Given the description of an element on the screen output the (x, y) to click on. 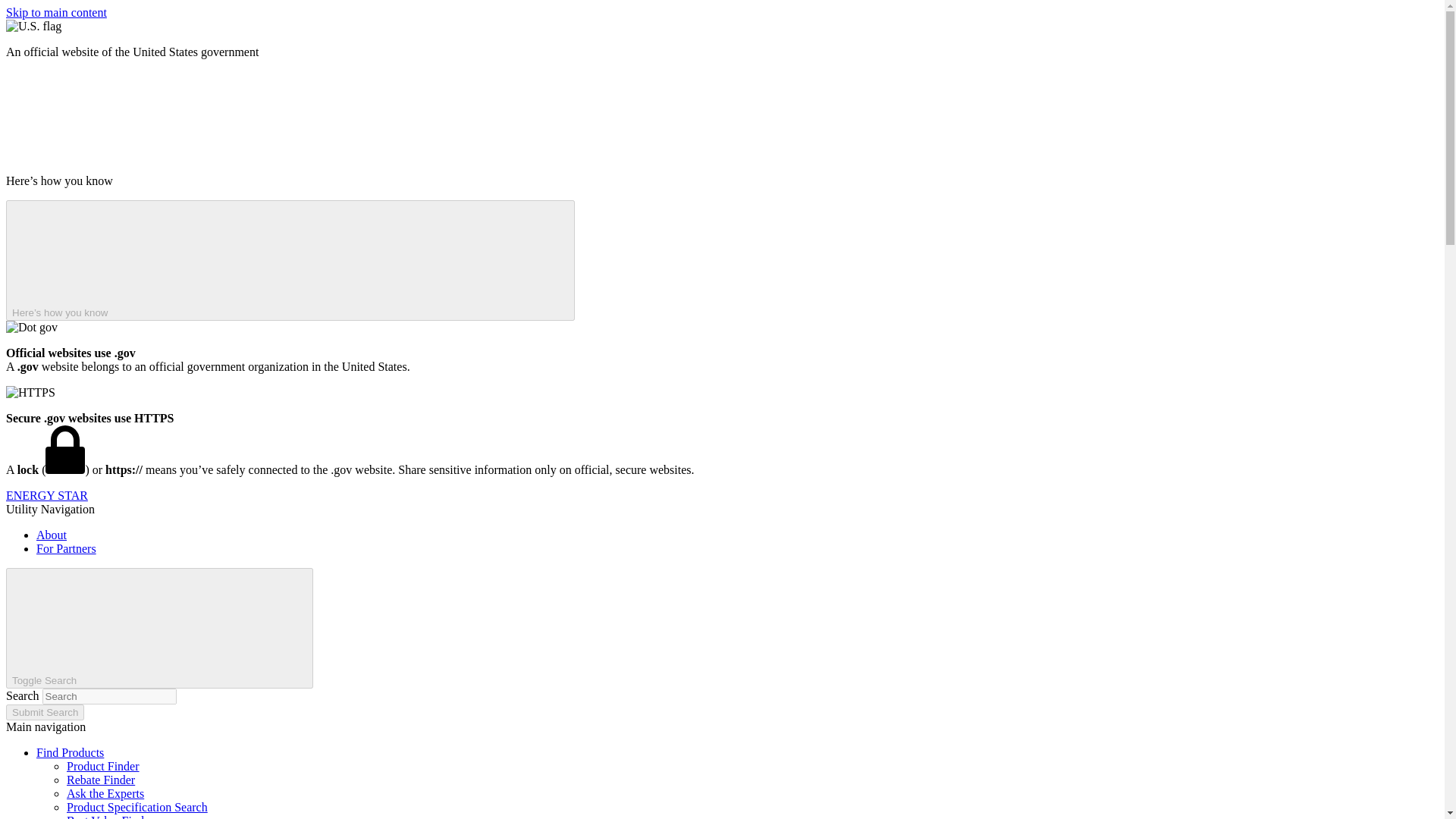
Product Finder (102, 766)
Best Value Finder (109, 816)
About (51, 534)
Skip to main content (55, 11)
Magnifying Glass Icon (193, 626)
Home (46, 495)
Find Products (69, 752)
For Partners (66, 548)
Product Specification Search (137, 807)
Ask the Experts (105, 793)
